Given the description of an element on the screen output the (x, y) to click on. 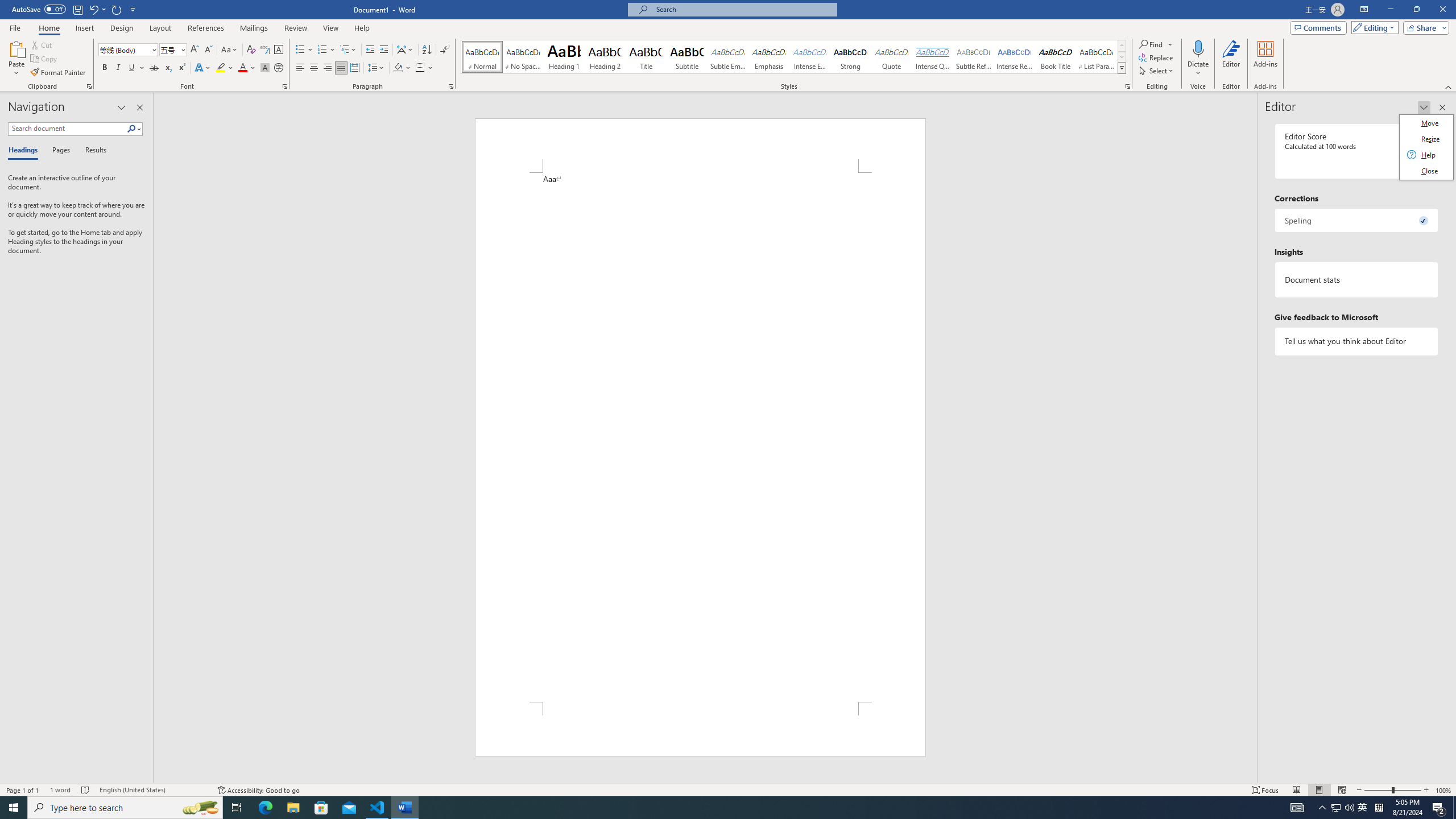
Running applications (723, 807)
User Promoted Notification Area (1342, 807)
Microsoft Store (320, 807)
Type here to search (124, 807)
Action Center, 2 new notifications (1439, 807)
File Explorer (293, 807)
Q2790: 100% (1349, 807)
